Given the description of an element on the screen output the (x, y) to click on. 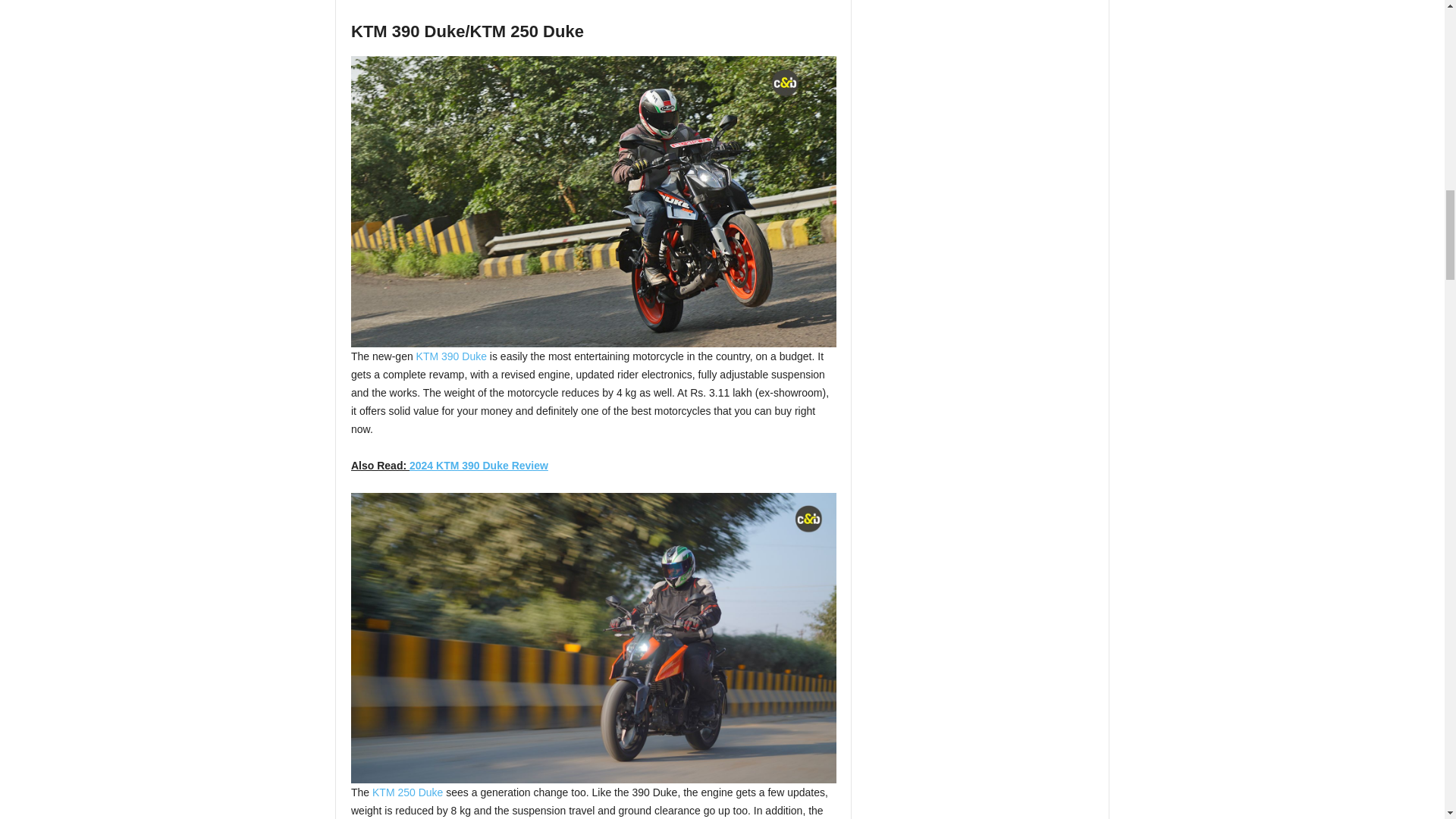
KTM 390 Duke (451, 356)
KTM 250 Duke (407, 792)
2024 KTM 390 Duke Review (478, 465)
